Given the description of an element on the screen output the (x, y) to click on. 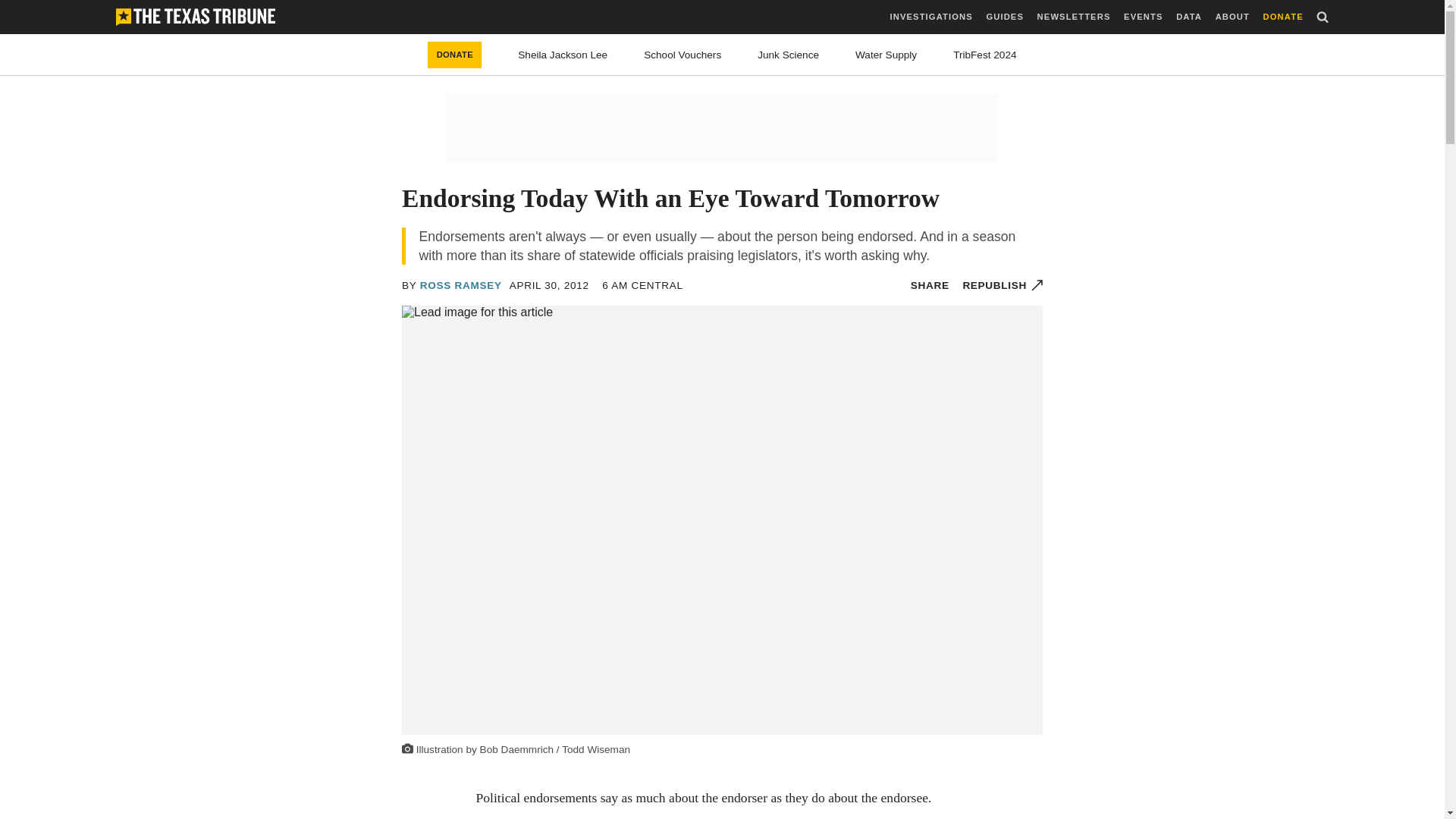
Sheila Jackson Lee (562, 54)
REPUBLISH (1002, 285)
School Vouchers (681, 54)
Junk Science (787, 54)
GUIDES (1004, 17)
Water Supply (886, 54)
INVESTIGATIONS (930, 17)
ABOUT (1232, 17)
TribFest 2024 (984, 54)
DONATE (454, 54)
NEWSLETTERS (1073, 17)
2012-04-30 06:00 CDT (642, 285)
EVENTS (1142, 17)
DONATE (1283, 17)
2012-04-30 06:00 CDT (549, 285)
